Given the description of an element on the screen output the (x, y) to click on. 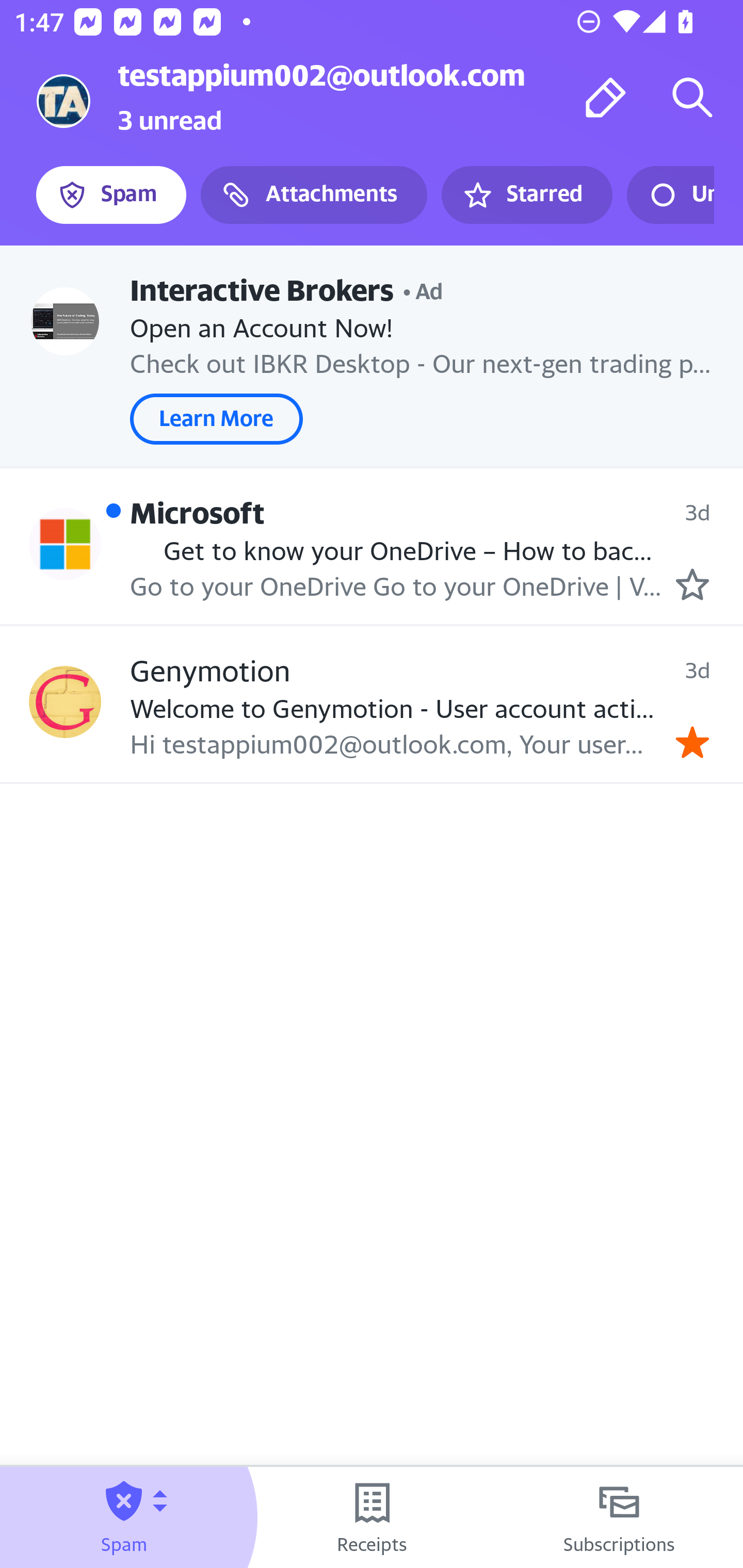
Compose (605, 97)
Search mail (692, 97)
Attachments (313, 195)
Starred (526, 195)
Profile
Microsoft (64, 544)
Mark as starred. (692, 584)
Profile
Genymotion (64, 702)
Remove star. (692, 742)
Spam Folder picker (123, 1517)
Receipts (371, 1517)
Subscriptions (619, 1517)
